Given the description of an element on the screen output the (x, y) to click on. 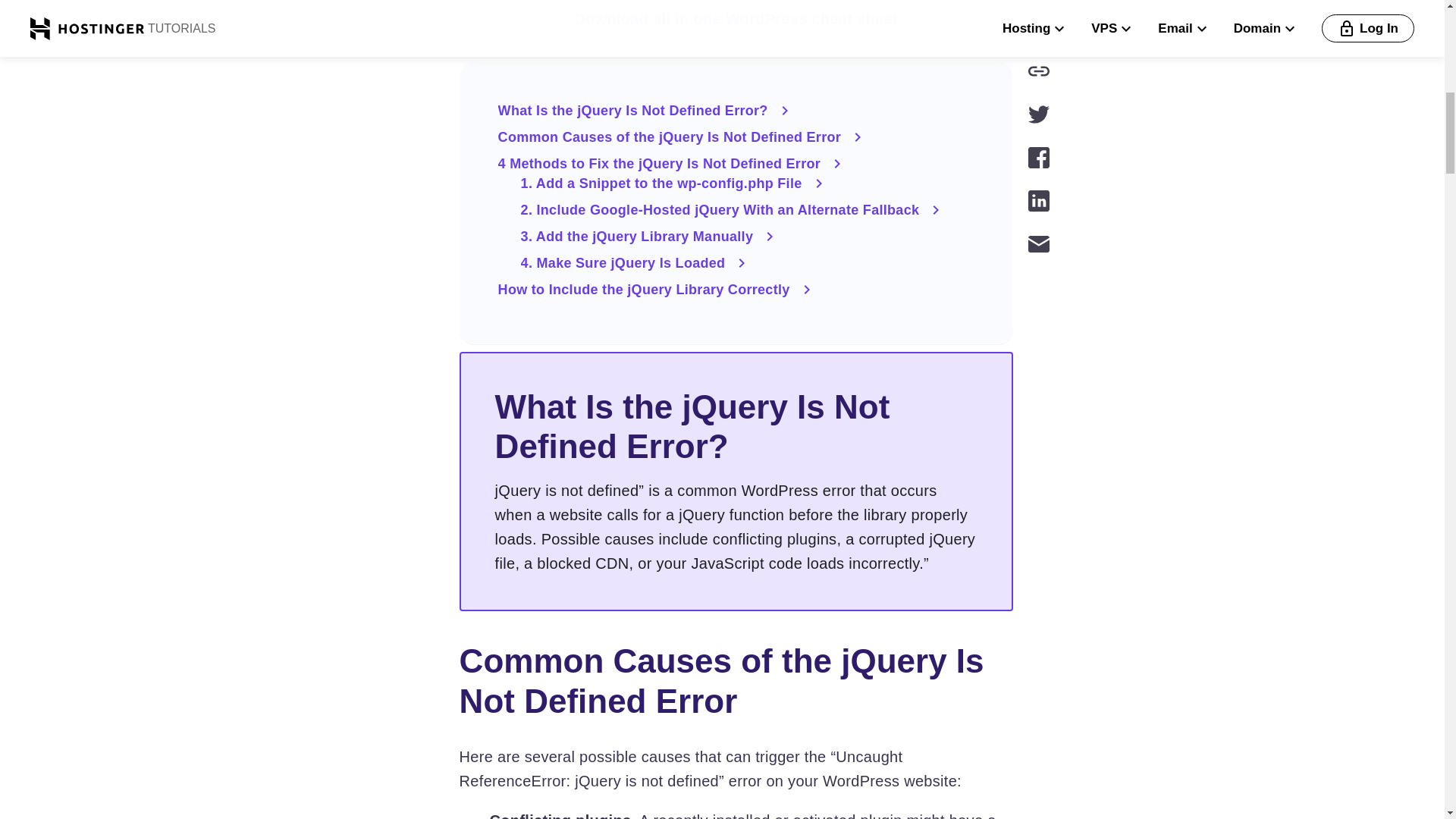
4 Methods to Fix the jQuery Is Not Defined Error (735, 163)
How to Include the jQuery Library Correctly (735, 289)
3. Add the jQuery Library Manually (747, 236)
1. Add a Snippet to the wp-config.php File (747, 183)
Common Causes of the jQuery Is Not Defined Error (735, 136)
4 Methods to Fix the jQuery Is Not Defined Error (735, 163)
What Is the jQuery Is Not Defined Error? (735, 110)
2. Include Google-Hosted jQuery With an Alternate Fallback (747, 209)
What Is the jQuery Is Not Defined Error? (735, 110)
4. Make Sure jQuery Is Loaded (747, 262)
